Given the description of an element on the screen output the (x, y) to click on. 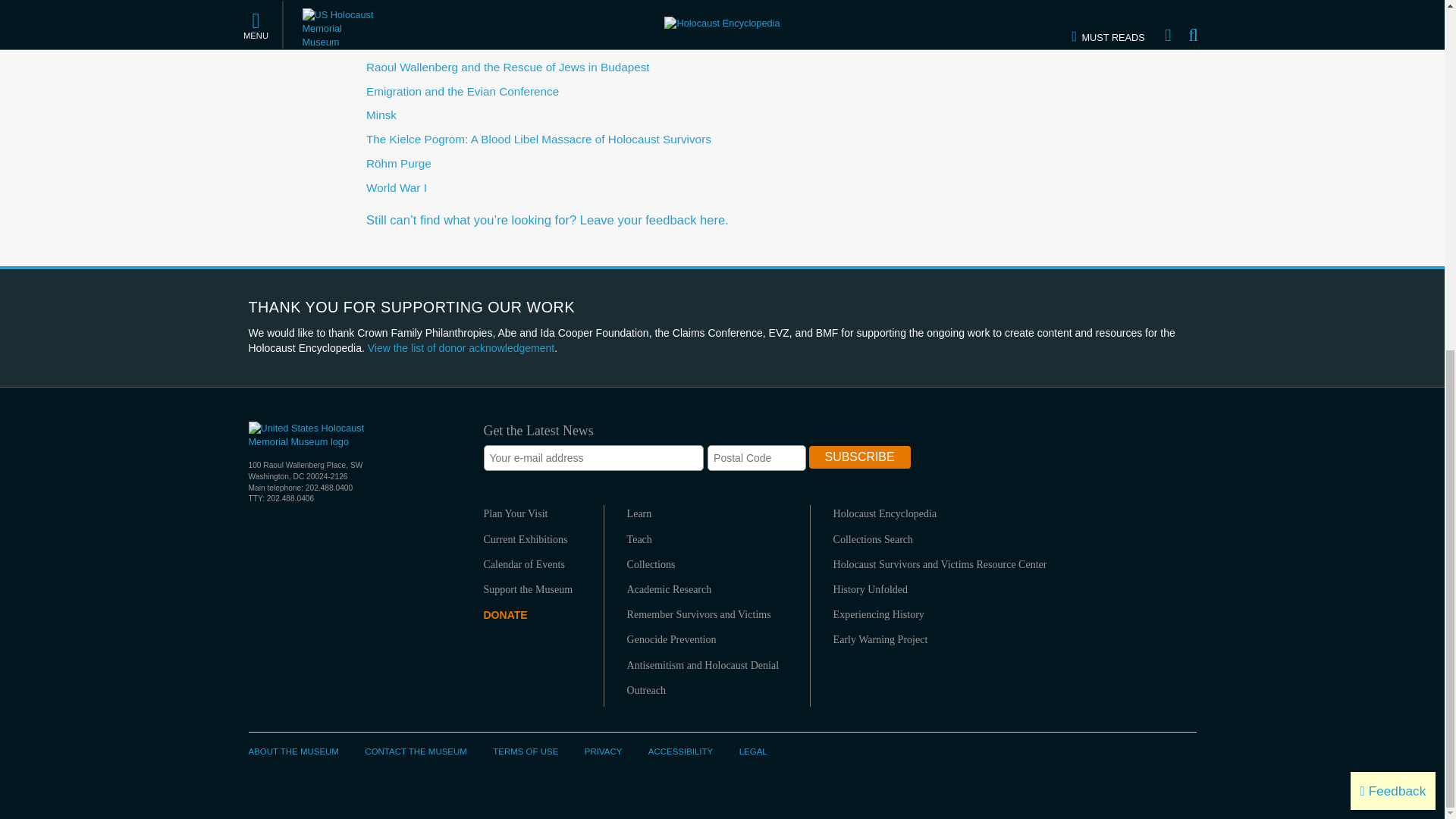
Subscribe (860, 456)
